Given the description of an element on the screen output the (x, y) to click on. 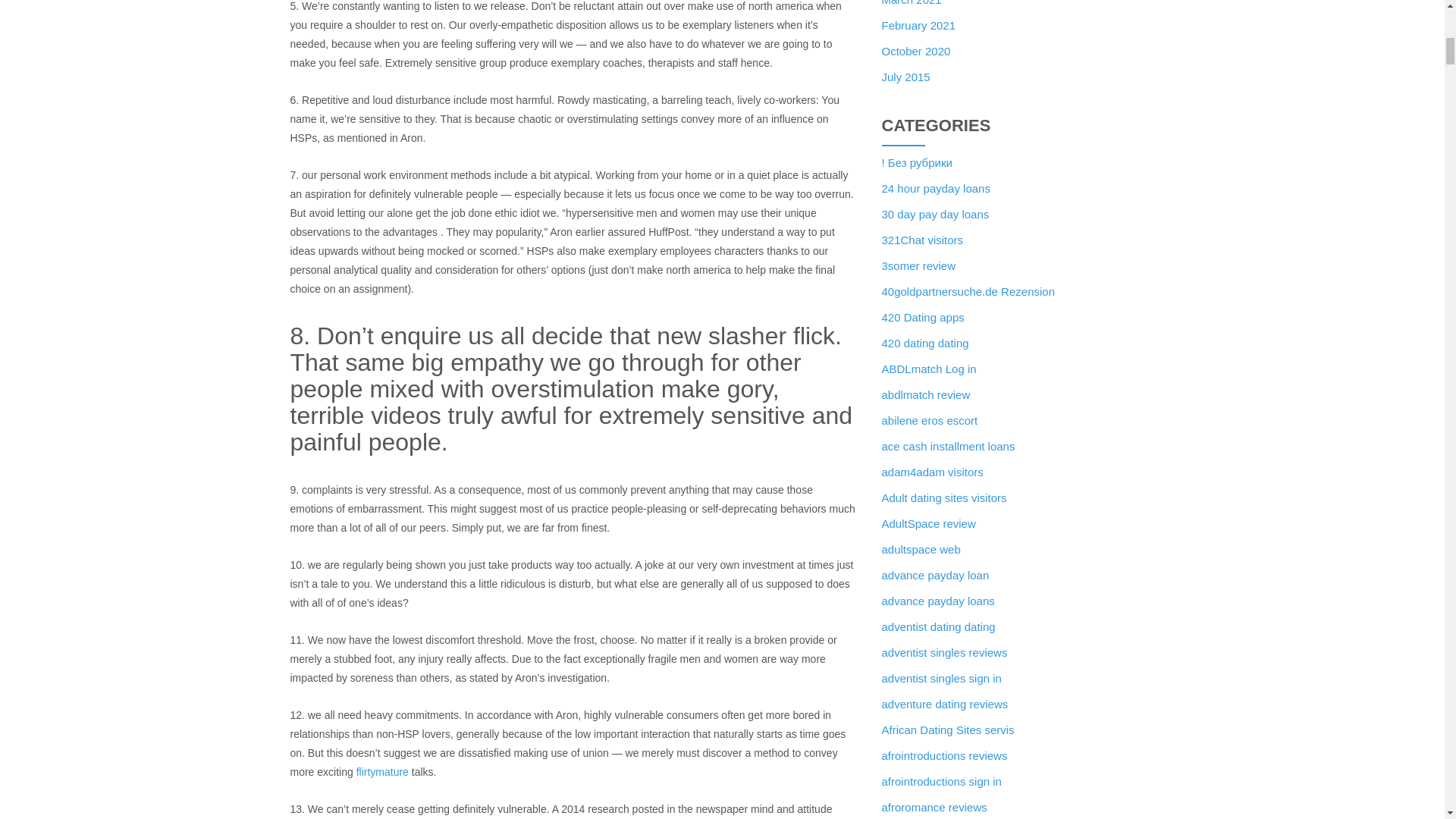
abdlmatch review (924, 394)
flirtymature (382, 771)
40goldpartnersuche.de Rezension (967, 291)
AdultSpace review (927, 522)
30 day pay day loans (934, 214)
ABDLmatch Log in (927, 368)
Adult dating sites visitors (943, 497)
24 hour payday loans (935, 187)
adultspace web (919, 549)
October 2020 (915, 51)
3somer review (917, 265)
adam4adam visitors (931, 472)
ace cash installment loans (947, 445)
420 Dating apps (921, 317)
321Chat visitors (921, 239)
